Given the description of an element on the screen output the (x, y) to click on. 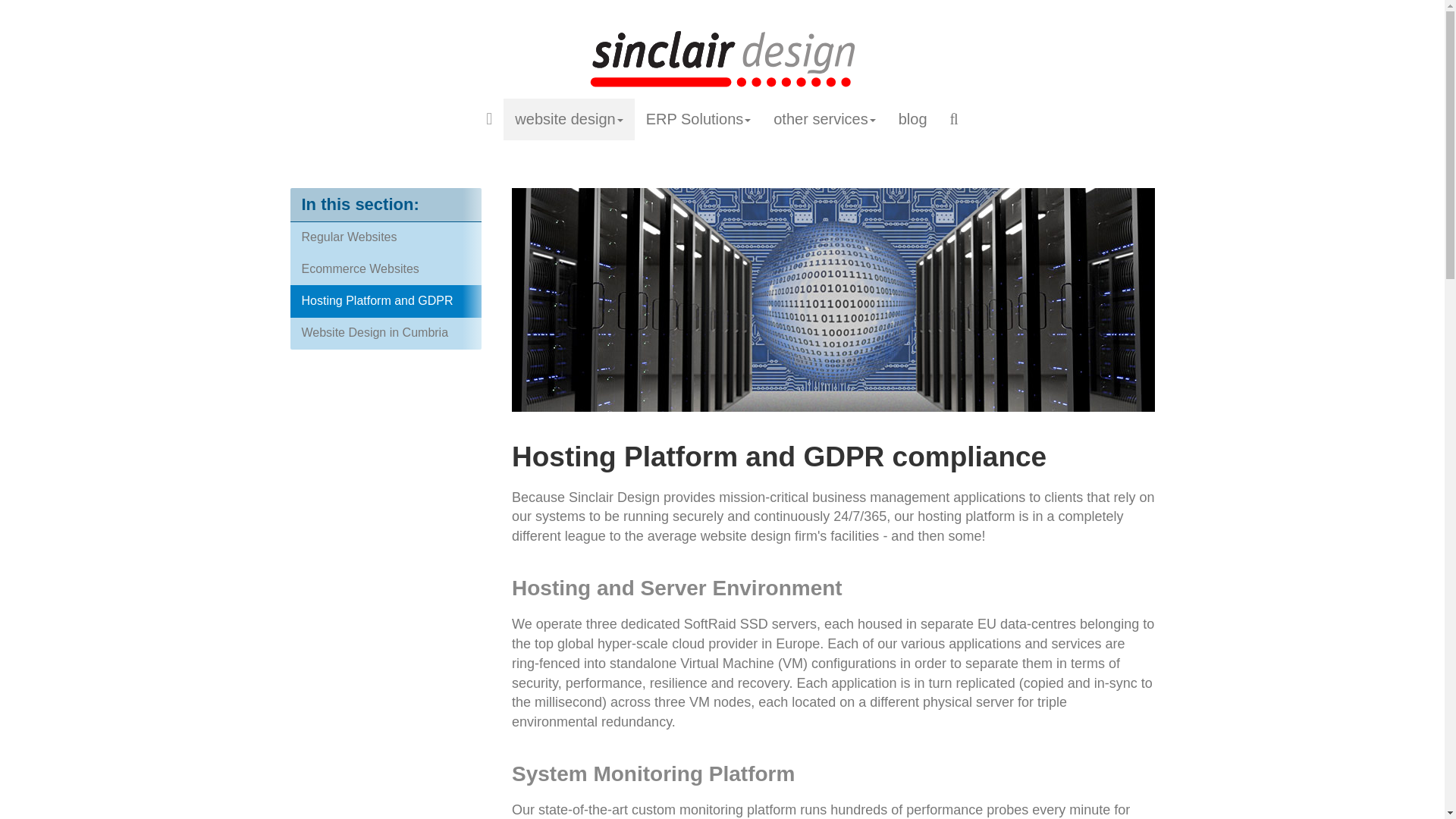
Hosting Platform and GDPR (385, 301)
Sinclair Design website design (722, 57)
website design (568, 119)
blog (912, 119)
Regular Websites (385, 237)
Website Design in Cumbria (385, 332)
other services (823, 119)
ERP Solutions (698, 119)
Ecommerce Websites (385, 269)
